Given the description of an element on the screen output the (x, y) to click on. 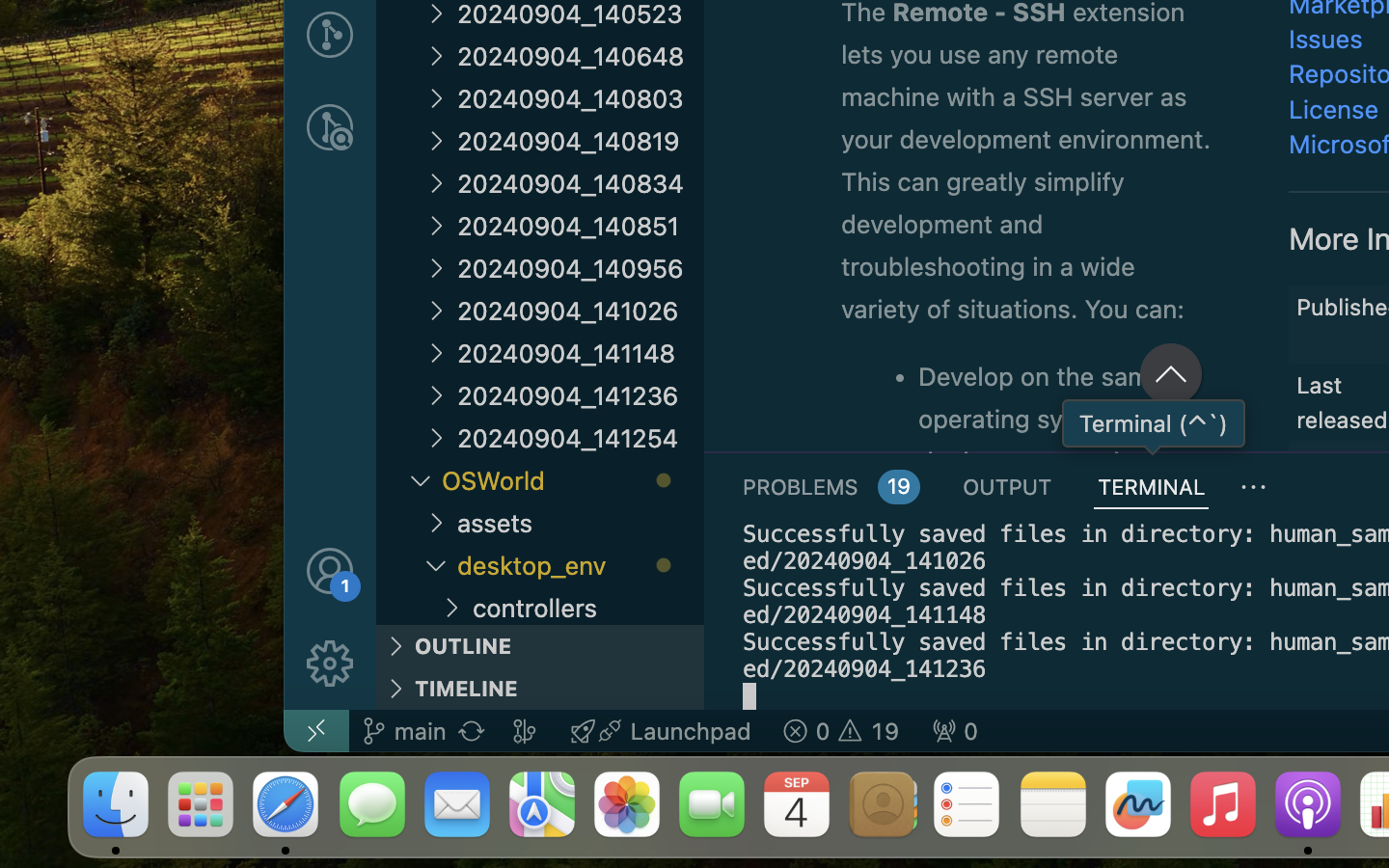
desktop_env  Element type: AXGroup (580, 564)
0 PROBLEMS 19 Element type: AXRadioButton (830, 485)
0 OUTPUT Element type: AXRadioButton (1007, 485)
OUTLINE  Element type: AXButton (540, 645)
TIMELINE  Element type: AXButton (540, 688)
